Given the description of an element on the screen output the (x, y) to click on. 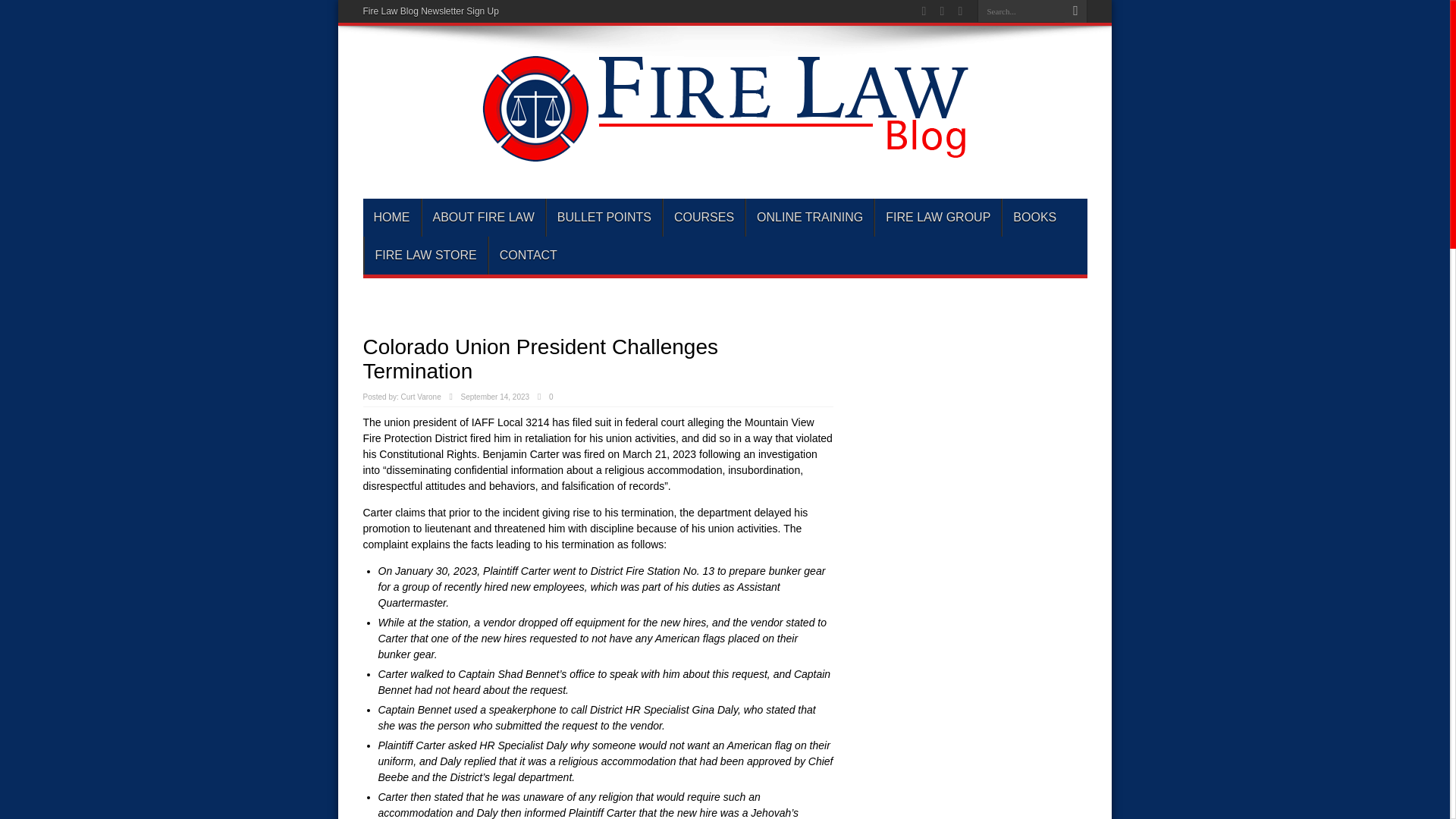
Fire Law Blog (724, 154)
Fire Law Blog Newsletter Sign Up (429, 11)
FIRE LAW STORE (425, 255)
FIRE LAW GROUP (938, 217)
Search... (1020, 11)
Curt Varone (421, 397)
HOME (391, 217)
Search (1075, 11)
BOOKS (1034, 217)
COURSES (703, 217)
ABOUT FIRE LAW (483, 217)
0 (553, 397)
CONTACT (527, 255)
ONLINE TRAINING (809, 217)
BULLET POINTS (604, 217)
